Given the description of an element on the screen output the (x, y) to click on. 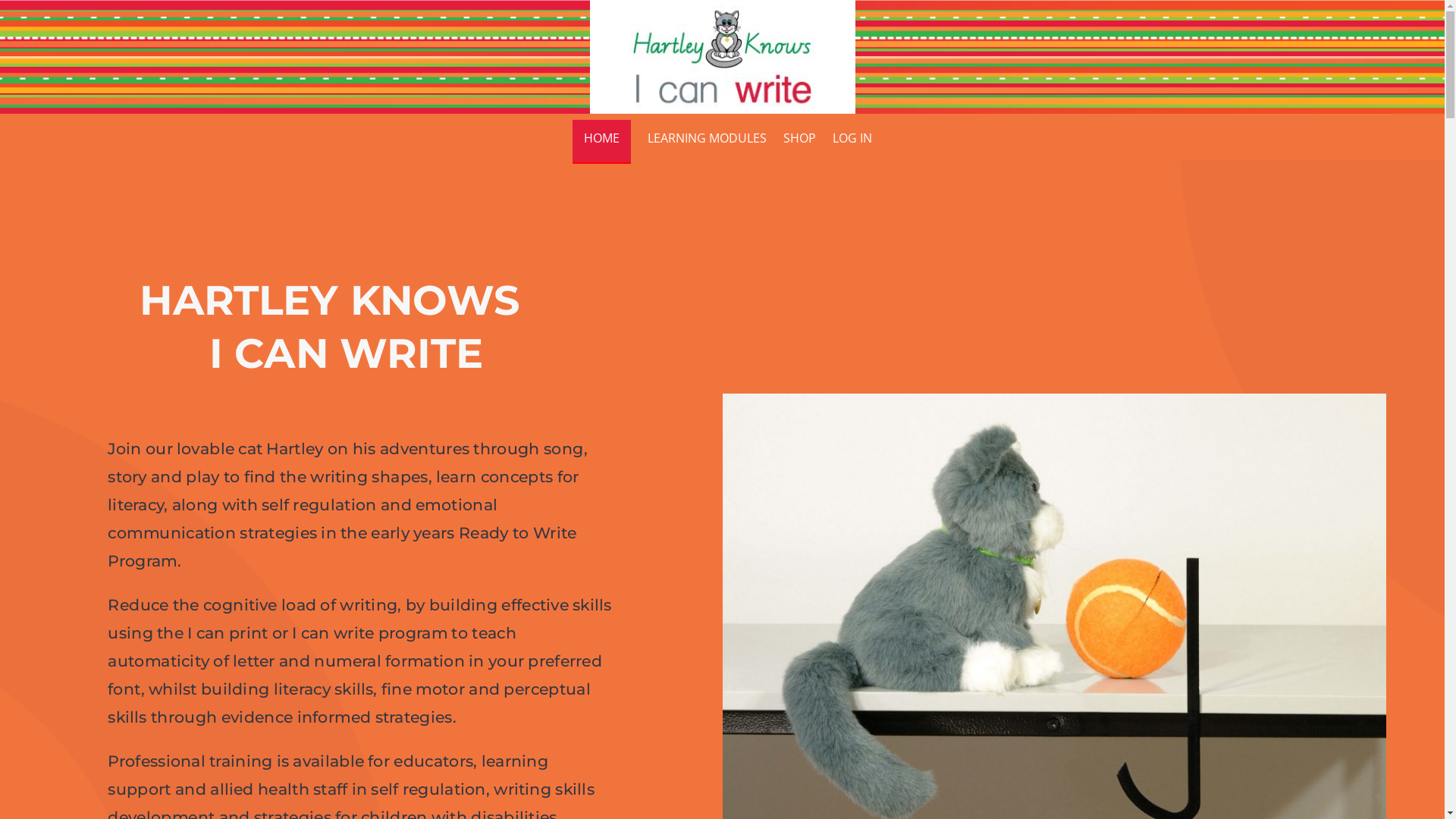
LEARNING MODULES Element type: text (706, 141)
Hartley-logo Element type: hover (722, 56)
SHOP Element type: text (799, 141)
LOG IN Element type: text (852, 141)
HOME Element type: text (601, 141)
